Given the description of an element on the screen output the (x, y) to click on. 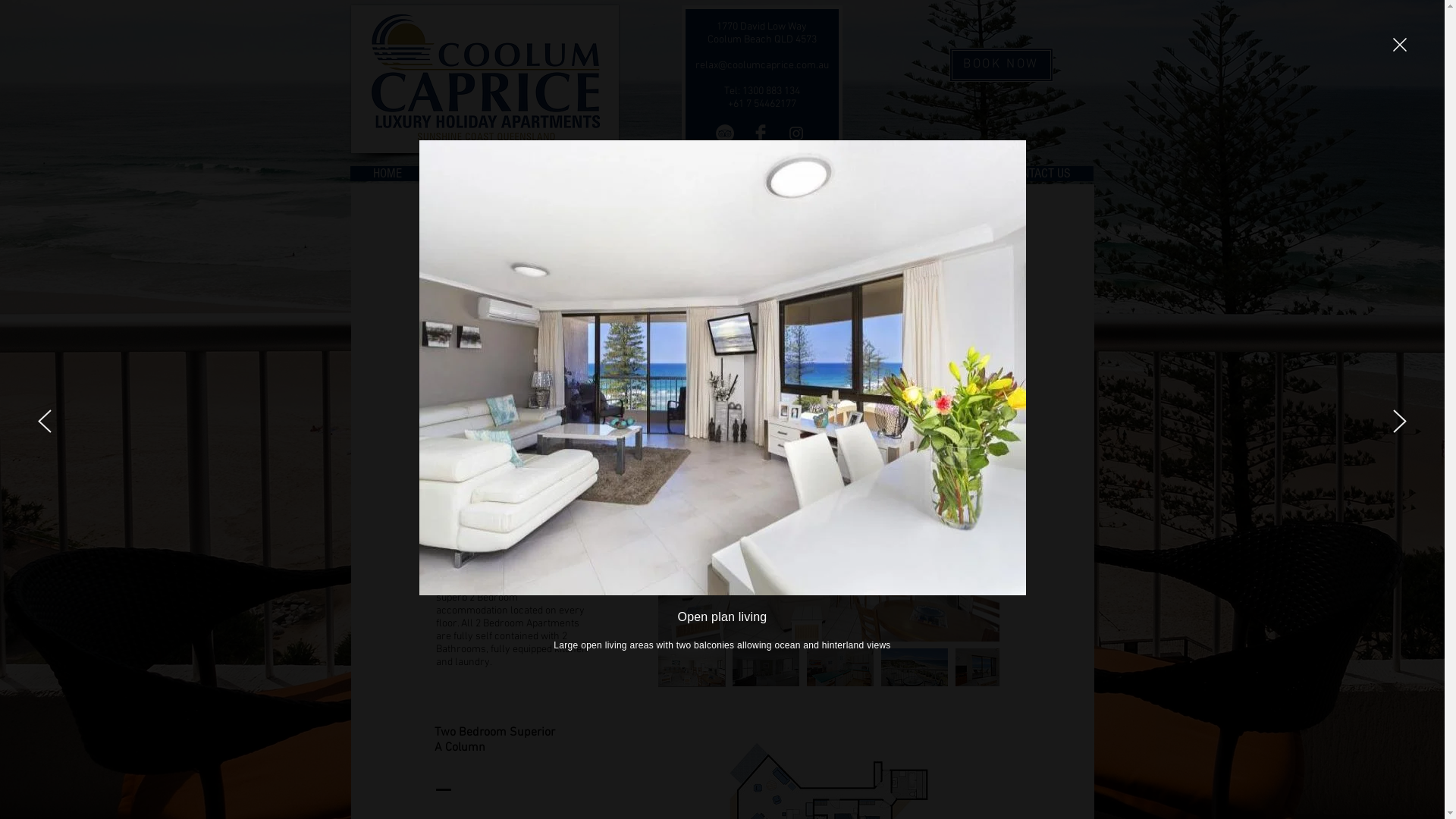
BOOK NOW Element type: text (707, 172)
SPECIALS Element type: text (932, 172)
BOOK NOW Element type: text (1001, 64)
FACILITIES Element type: text (481, 172)
THINGS TO DO Element type: text (821, 172)
relax@coolumcaprice.com.au Element type: text (761, 65)
HOME Element type: text (387, 172)
APARTMENTS Element type: text (593, 172)
CONTACT US Element type: text (1038, 172)
